Given the description of an element on the screen output the (x, y) to click on. 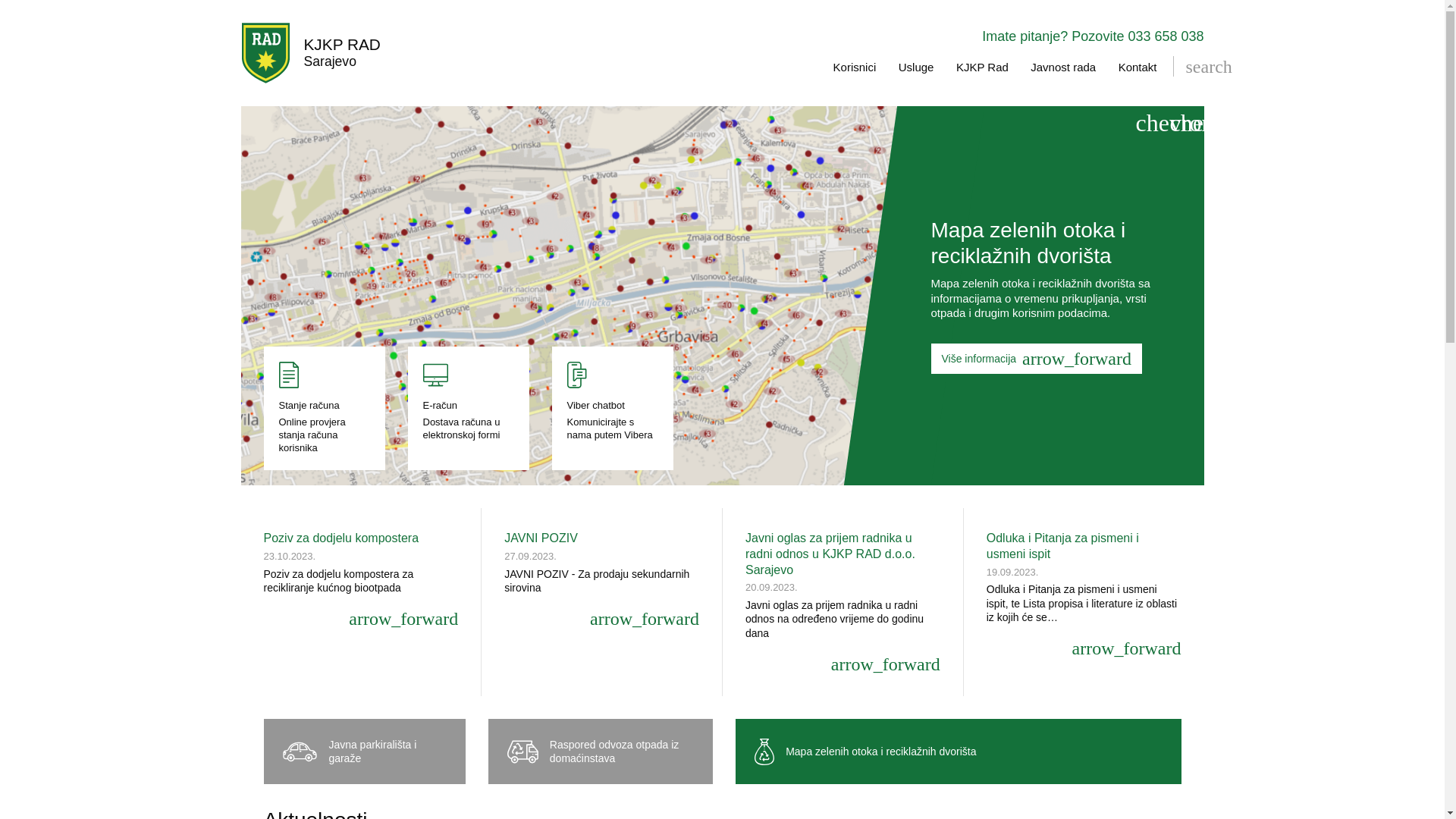
Kontakt Element type: text (1137, 67)
Javnost rada Element type: text (1062, 67)
Usluge Element type: text (916, 67)
KJKP Rad Element type: text (982, 67)
Korisnici Element type: text (854, 67)
KJKP RAD
Sarajevo Element type: text (310, 52)
search Element type: text (1192, 67)
Viber chatbot
Komunicirajte s nama putem Vibera Element type: text (612, 408)
